Given the description of an element on the screen output the (x, y) to click on. 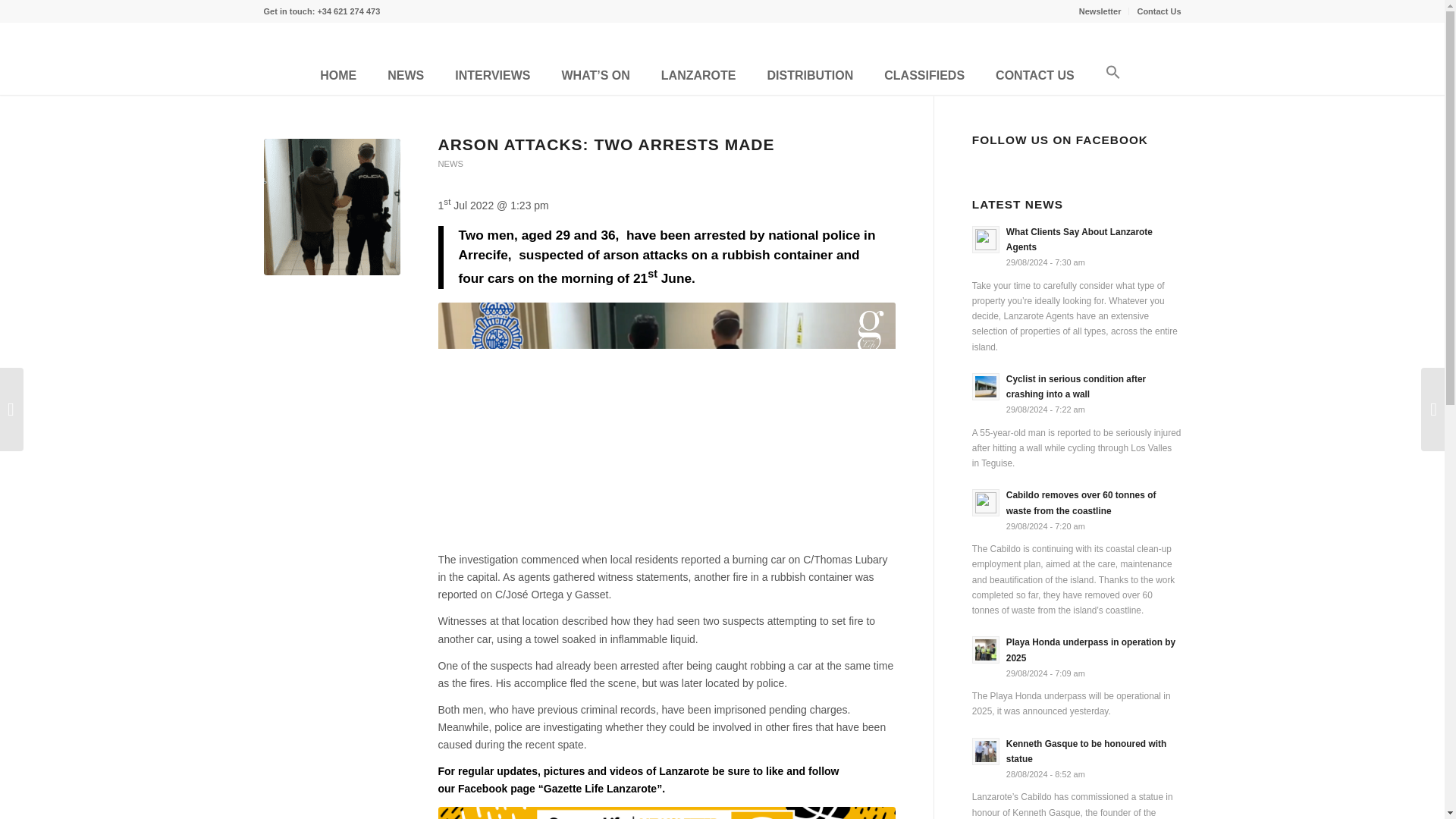
LANZAROTE (697, 78)
NEWS (405, 78)
arson-attacks (666, 422)
arson-attacks-main (331, 206)
NEWS (451, 163)
Permanent Link: Arson attacks: Two arrests made (606, 144)
CLASSIFIEDS (924, 78)
HOME (338, 78)
CONTACT US (1034, 78)
DISTRIBUTION (810, 78)
